Given the description of an element on the screen output the (x, y) to click on. 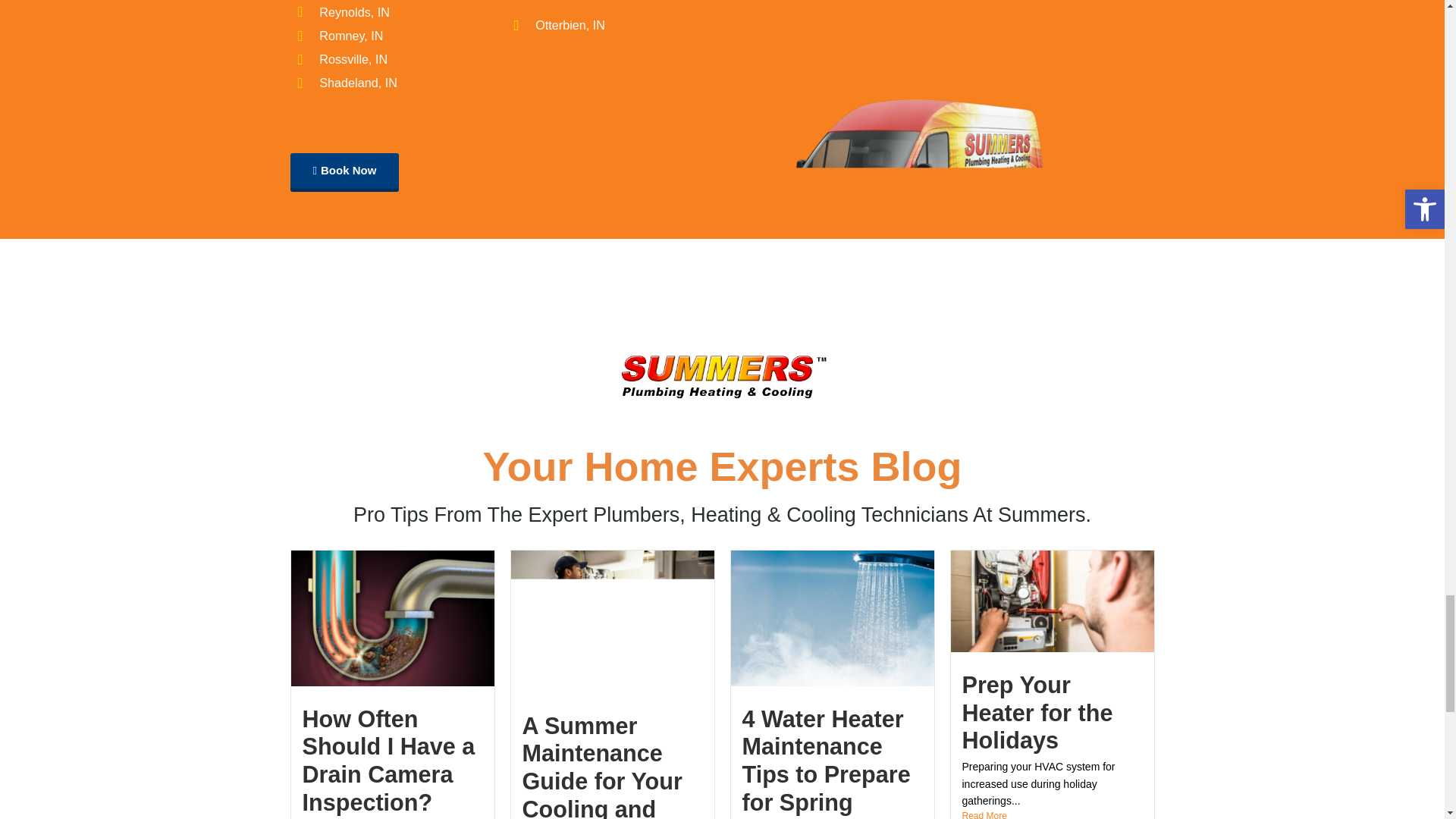
4 Water Heater Maintenance Tips to Prepare for Spring (825, 759)
Prep Your Heater for the Holidays (1036, 711)
How Often Should I Have a Drain Camera Inspection? (387, 759)
